Given the description of an element on the screen output the (x, y) to click on. 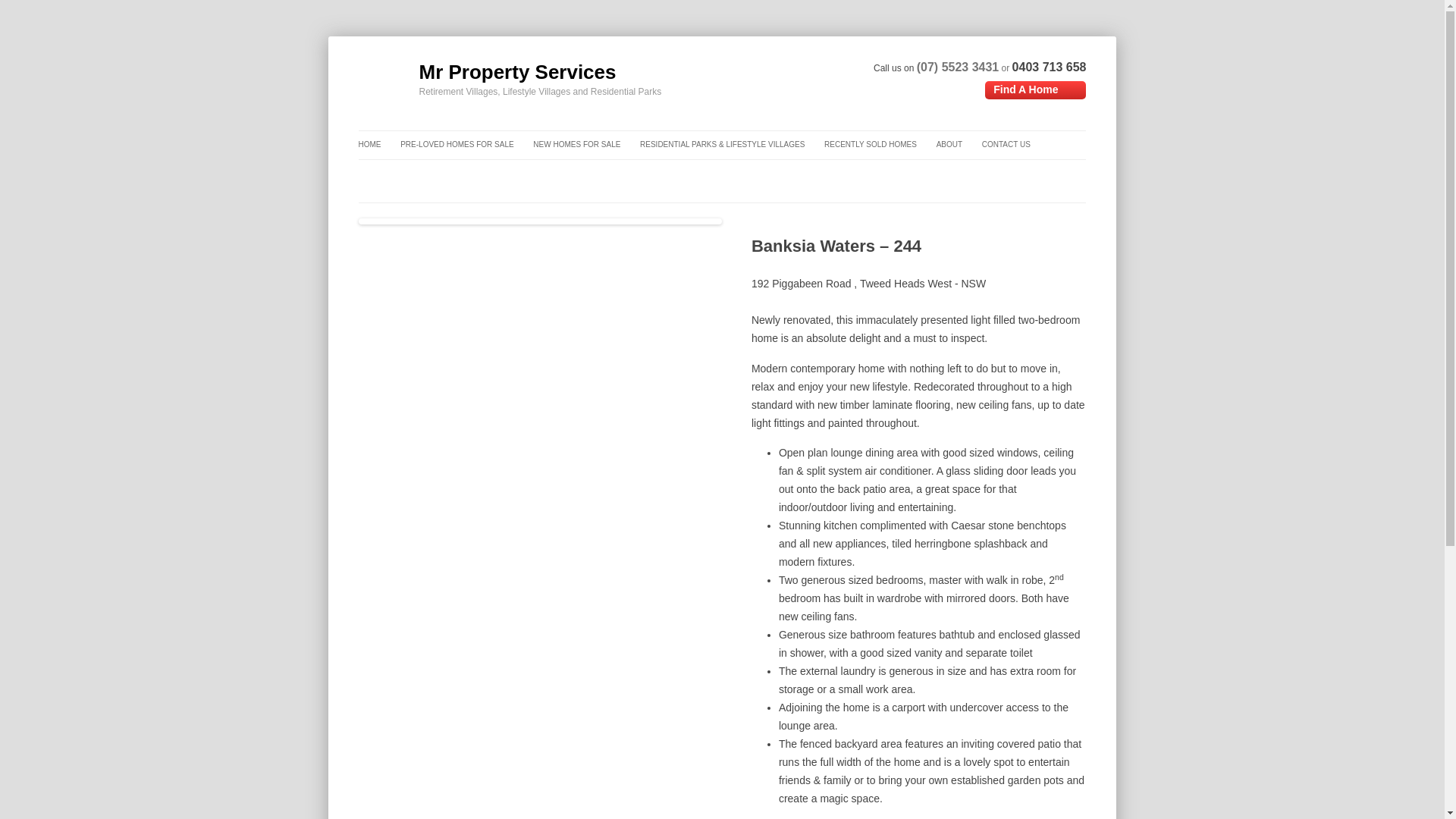
RECENTLY SOLD HOMES (870, 144)
0403 713 658 (1048, 66)
Mr Property Services (486, 71)
Mr Property Services (486, 71)
ABOUT (949, 144)
PRE-LOVED HOMES FOR SALE (456, 144)
CONTACT US (1005, 144)
Find A Home (1035, 90)
Skip to content (802, 77)
Skip to content (802, 77)
